Given the description of an element on the screen output the (x, y) to click on. 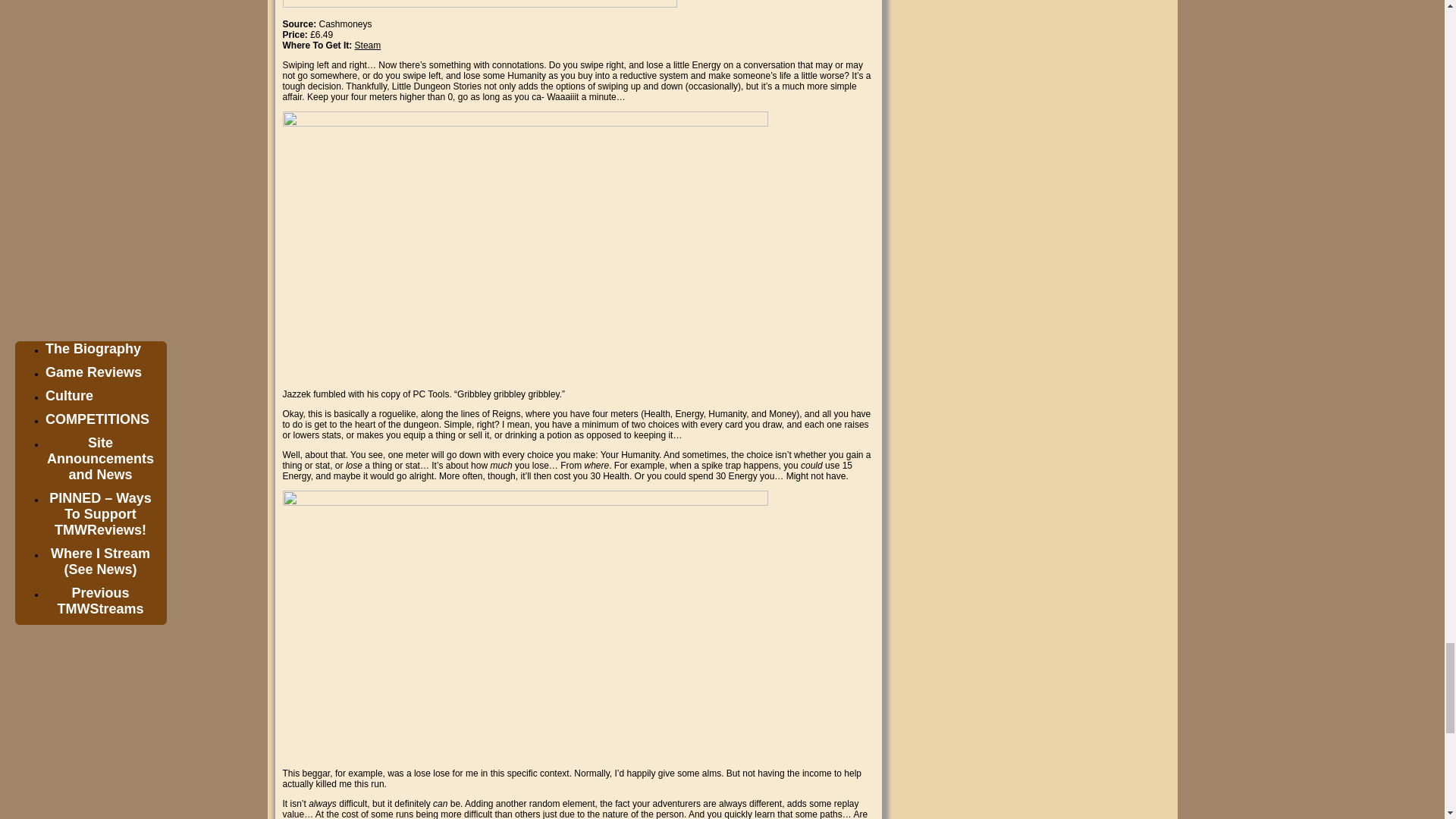
Steam (368, 45)
